Given the description of an element on the screen output the (x, y) to click on. 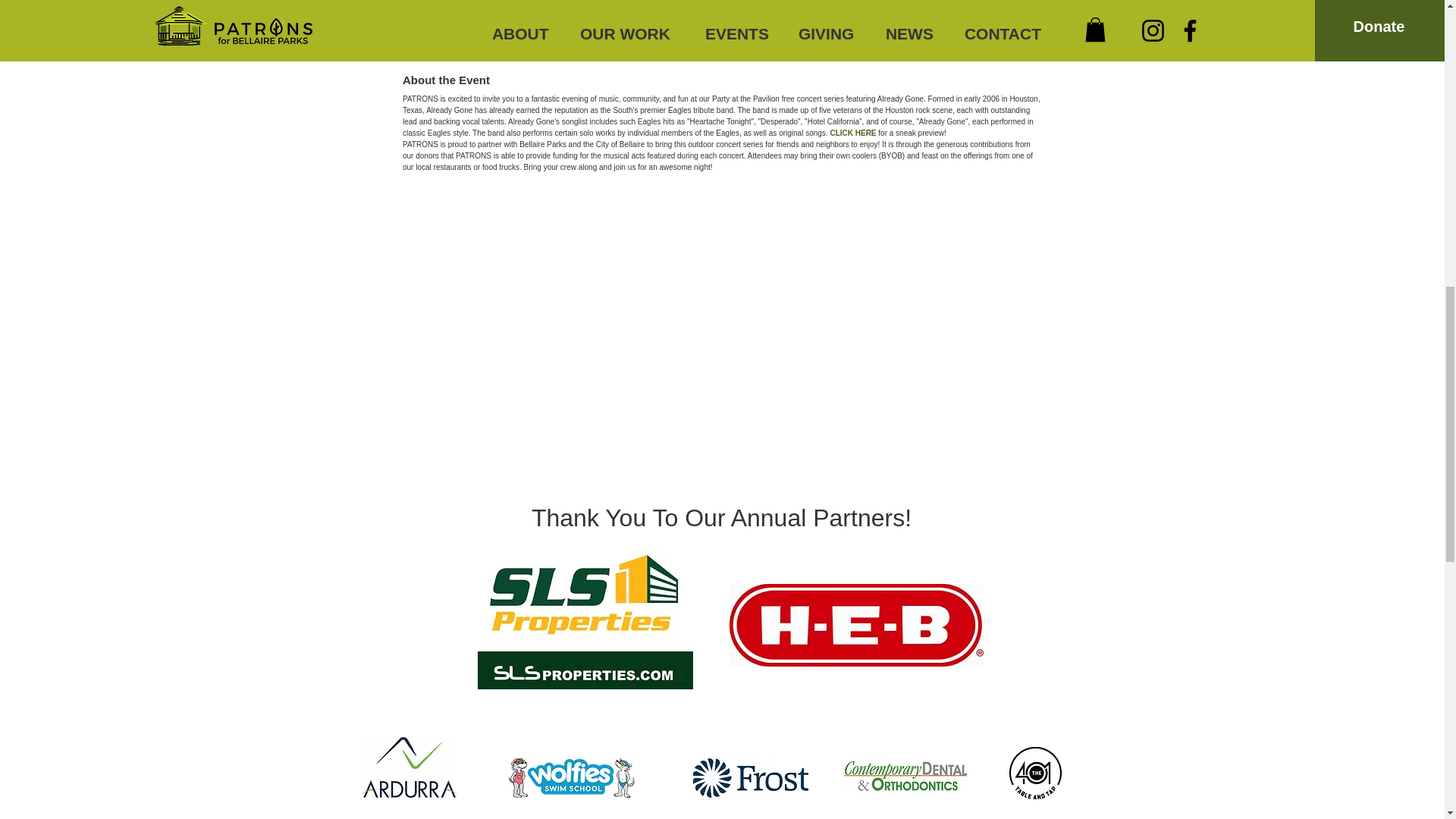
CLICK HERE (852, 132)
401.png (1034, 772)
ardurra logo.jpg (409, 767)
